Given the description of an element on the screen output the (x, y) to click on. 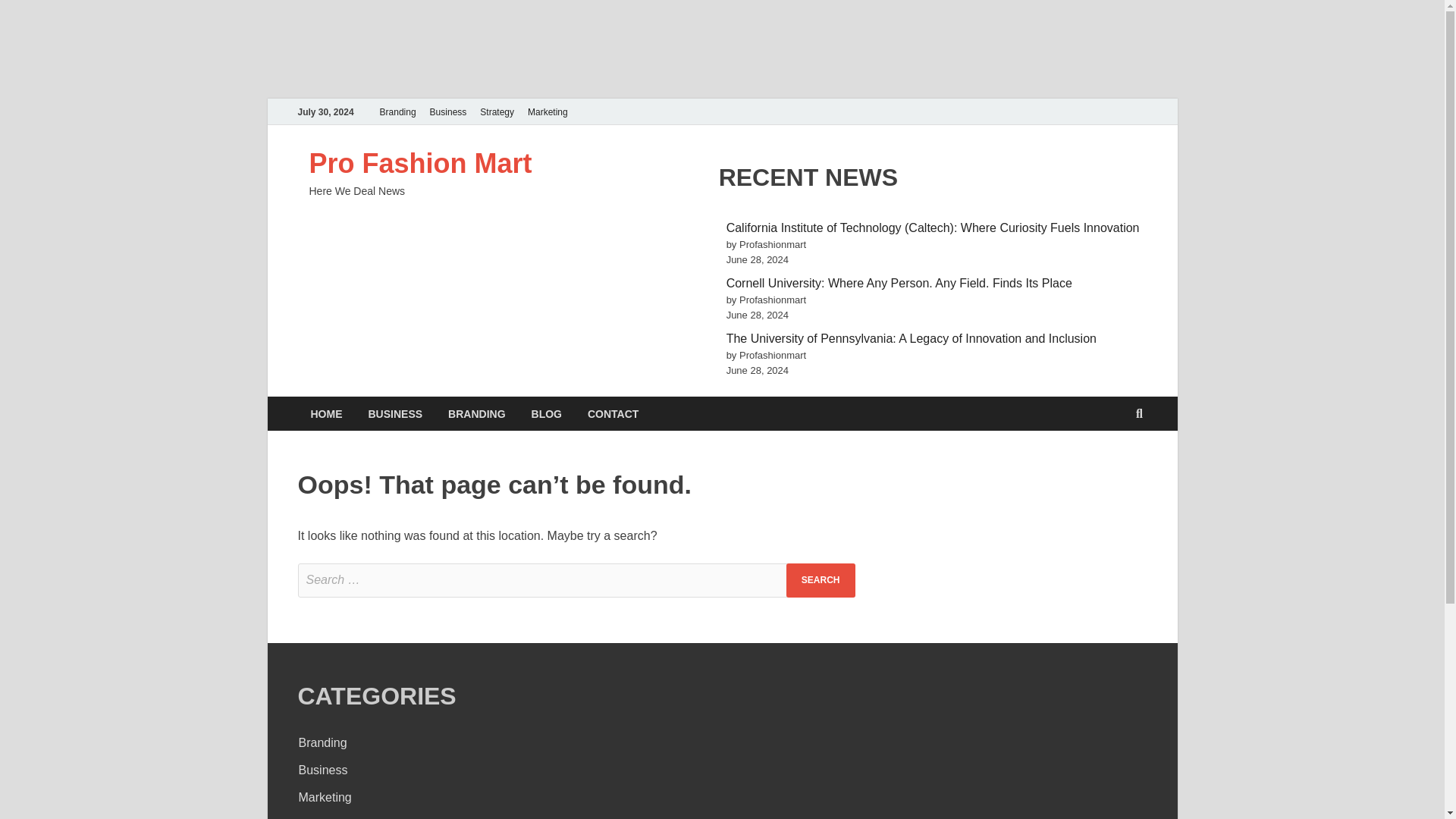
Pro Fashion Mart (420, 163)
Strategy (320, 818)
BLOG (546, 413)
BUSINESS (395, 413)
Search (821, 580)
Strategy (497, 111)
Branding (322, 742)
Search (821, 580)
Marketing (325, 797)
HOME (326, 413)
Search (821, 580)
Marketing (548, 111)
Branding (397, 111)
BRANDING (476, 413)
